Given the description of an element on the screen output the (x, y) to click on. 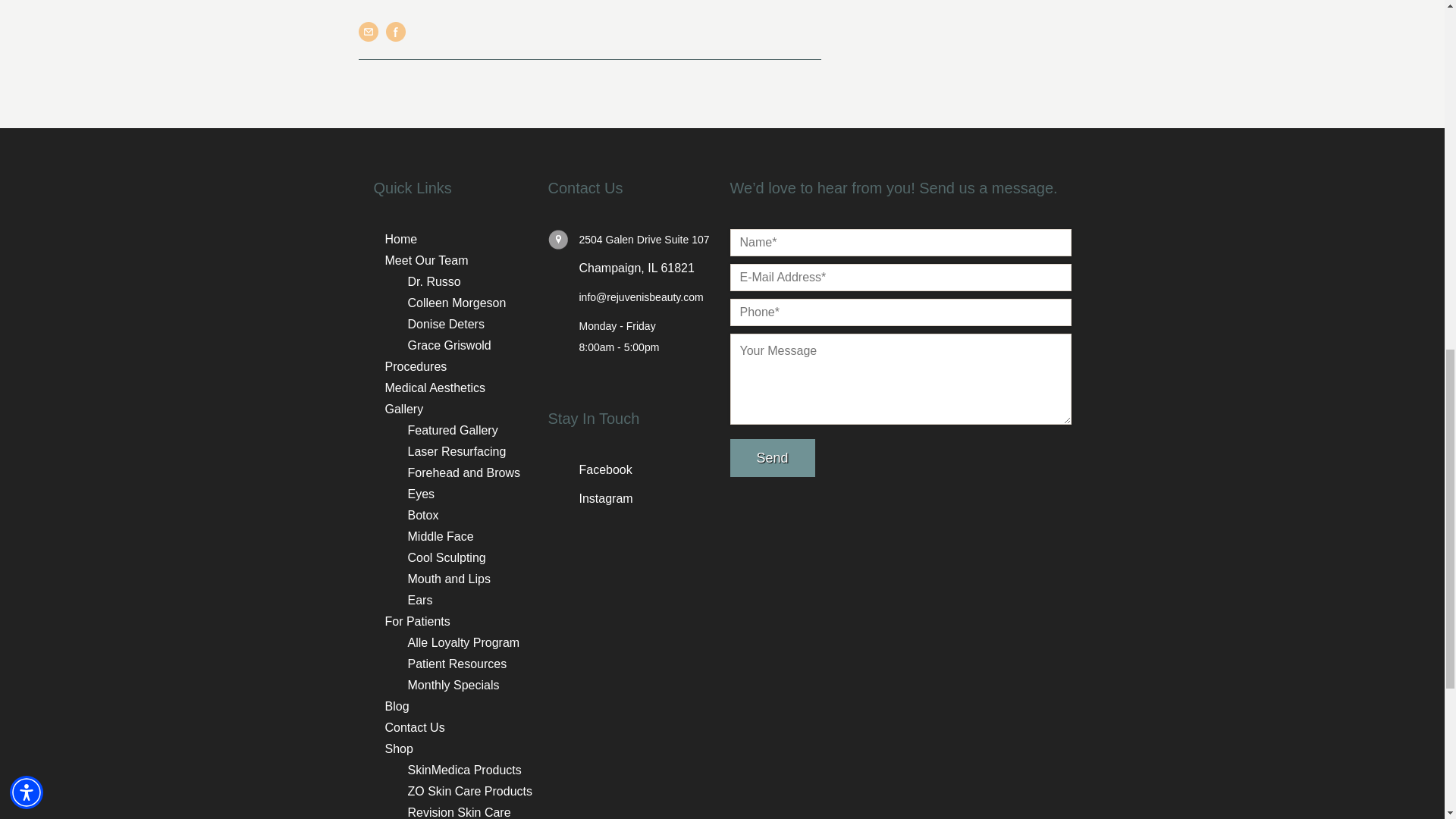
Send (771, 457)
